Given the description of an element on the screen output the (x, y) to click on. 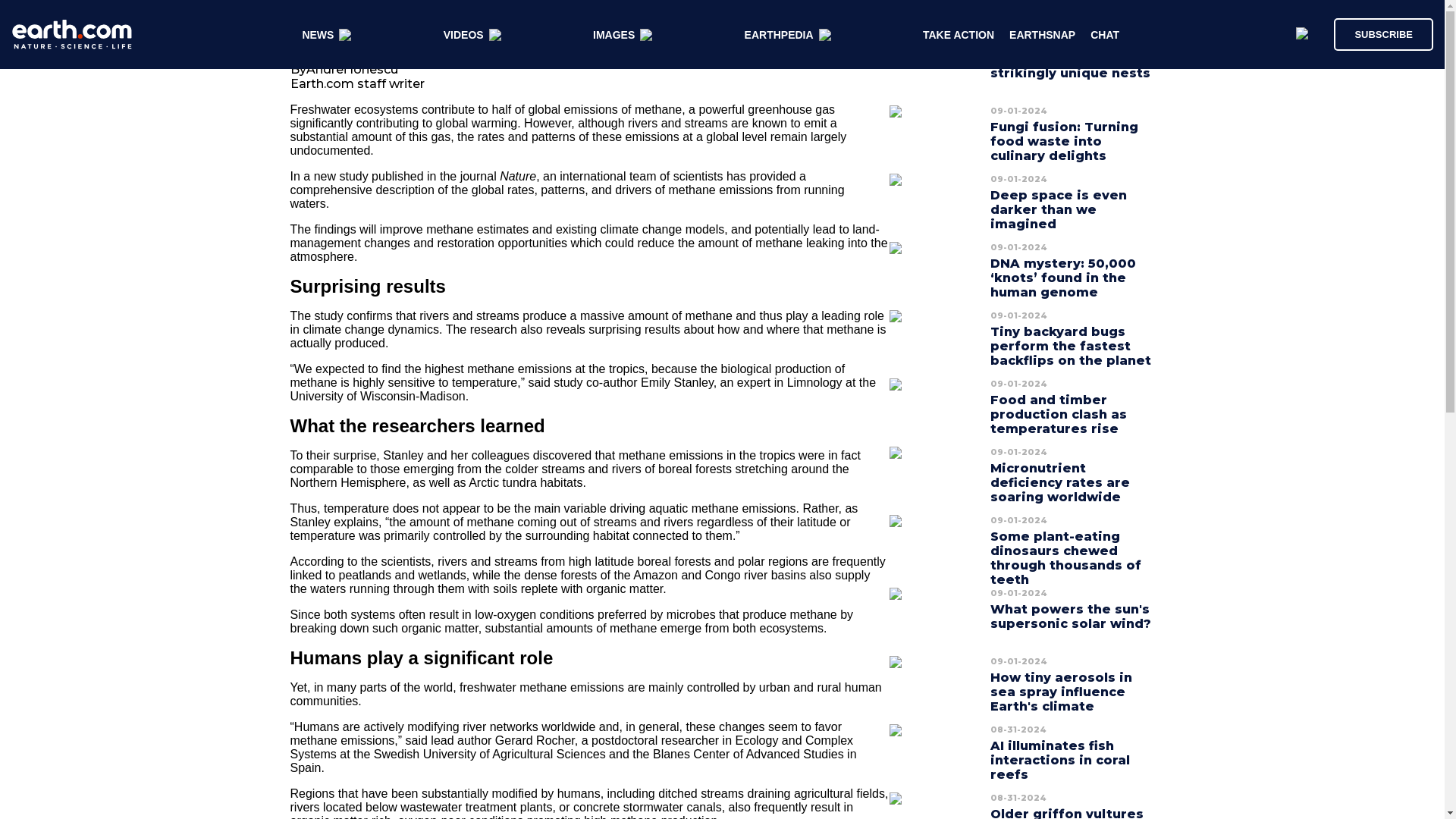
University of Wisconsin-Madison (376, 395)
Nature (517, 175)
Andrei Ionescu (351, 69)
How tiny aerosols in sea spray influence Earth's climate (1061, 691)
SUBSCRIBE (1382, 34)
What powers the sun's supersonic solar wind? (1070, 616)
Blanes Center of Advanced Studies (748, 753)
SUBSCRIBE (1375, 33)
Swedish University of Agricultural Sciences (489, 753)
